Given the description of an element on the screen output the (x, y) to click on. 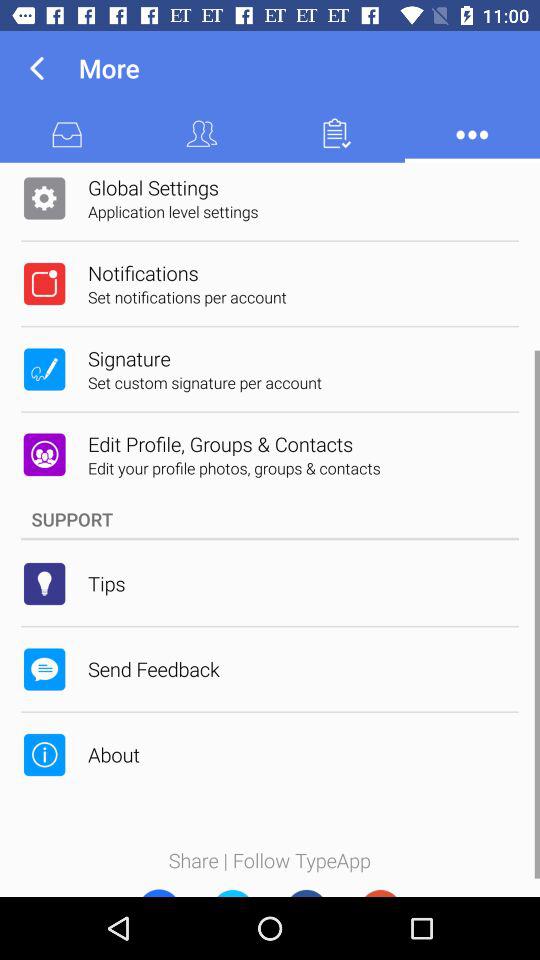
swipe to support (270, 519)
